Given the description of an element on the screen output the (x, y) to click on. 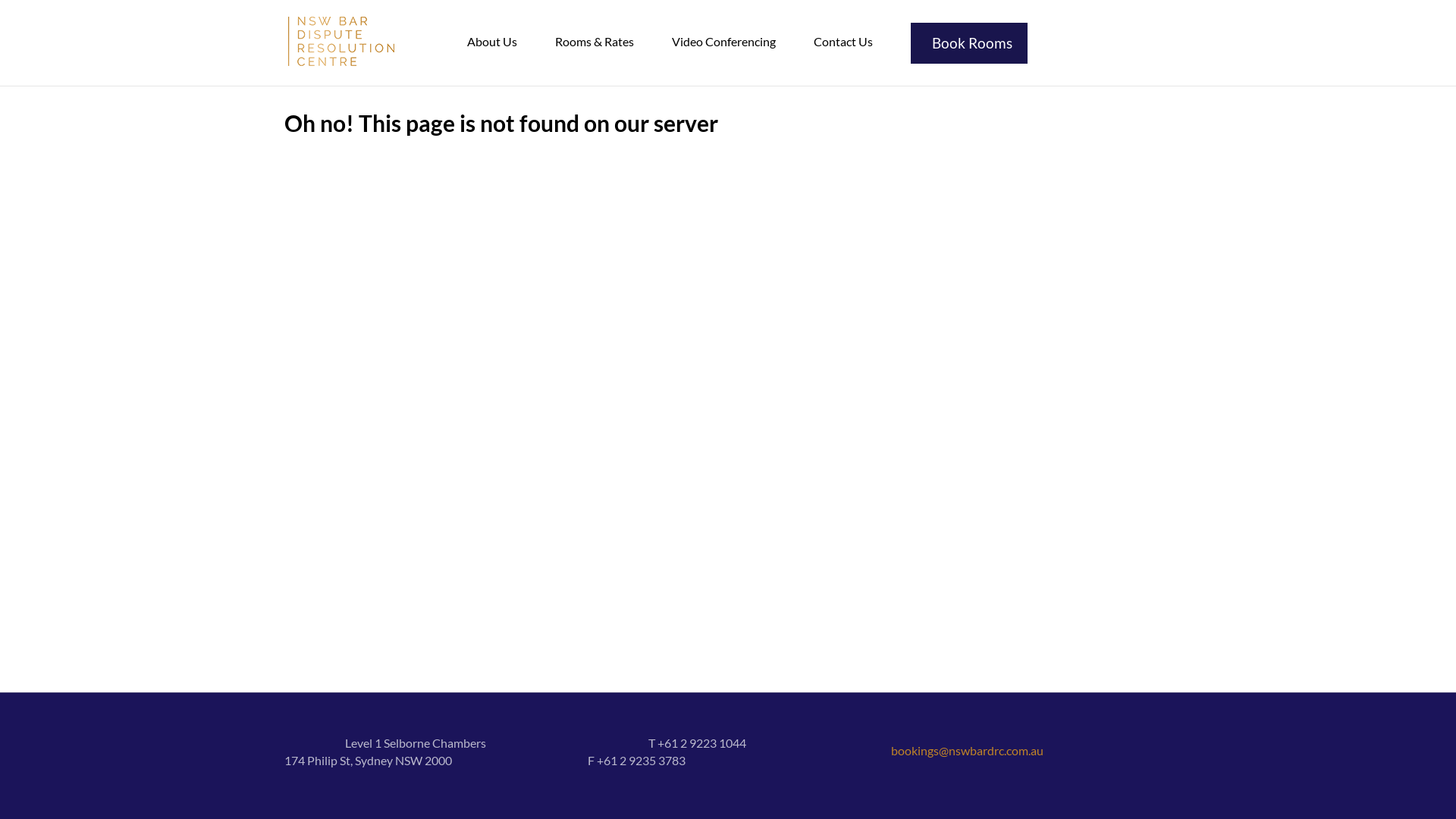
  Book Rooms Element type: text (968, 42)
bookings@nswbardrc.com.au Element type: text (967, 750)
About Us Element type: text (492, 41)
Contact Us Element type: text (842, 41)
Rooms & Rates Element type: text (594, 41)
Video Conferencing Element type: text (723, 41)
